Given the description of an element on the screen output the (x, y) to click on. 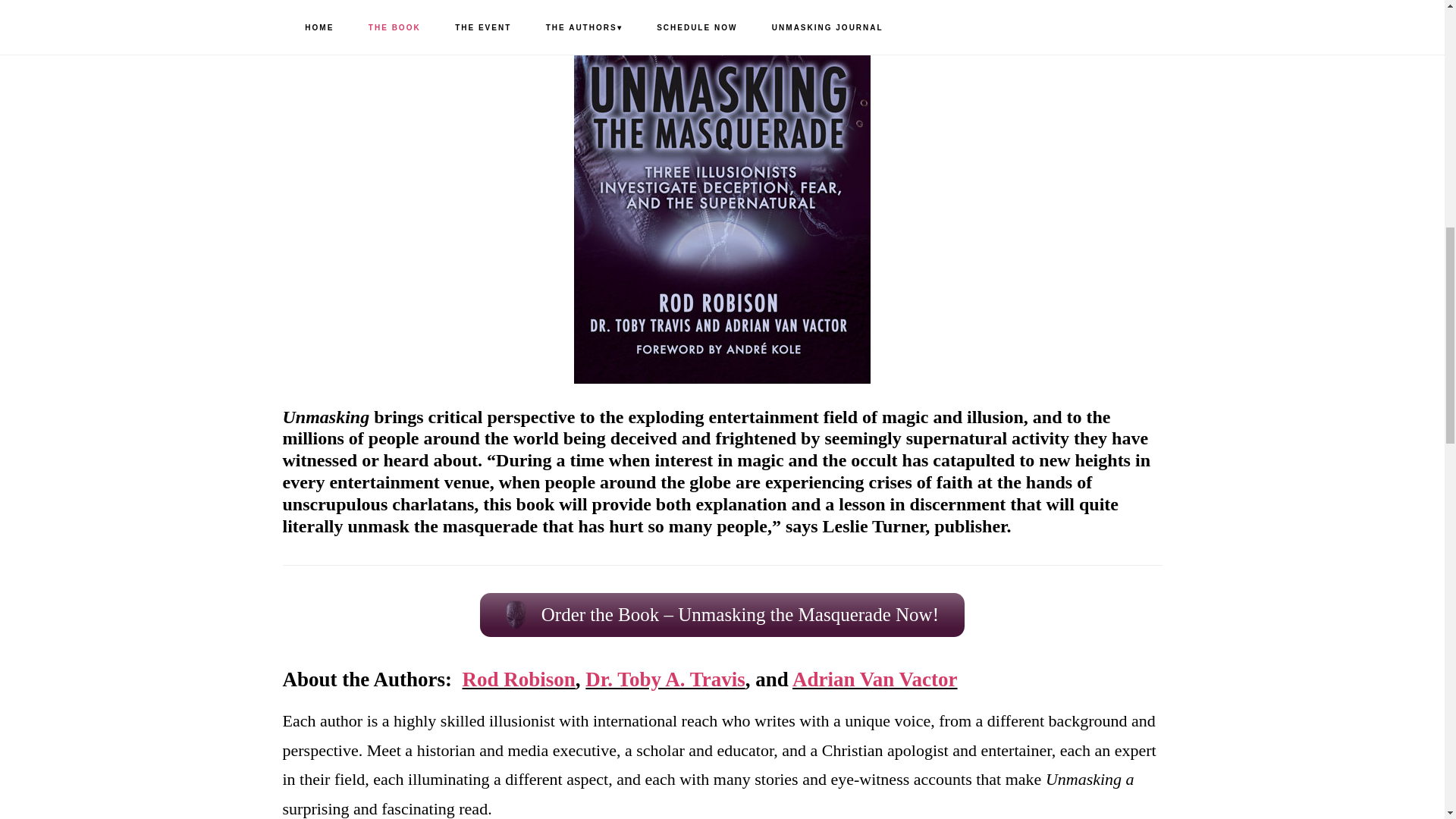
Dr. Toby A. Travis (664, 679)
Adrian Van Vactor (875, 679)
Rod Robison (519, 679)
